Given the description of an element on the screen output the (x, y) to click on. 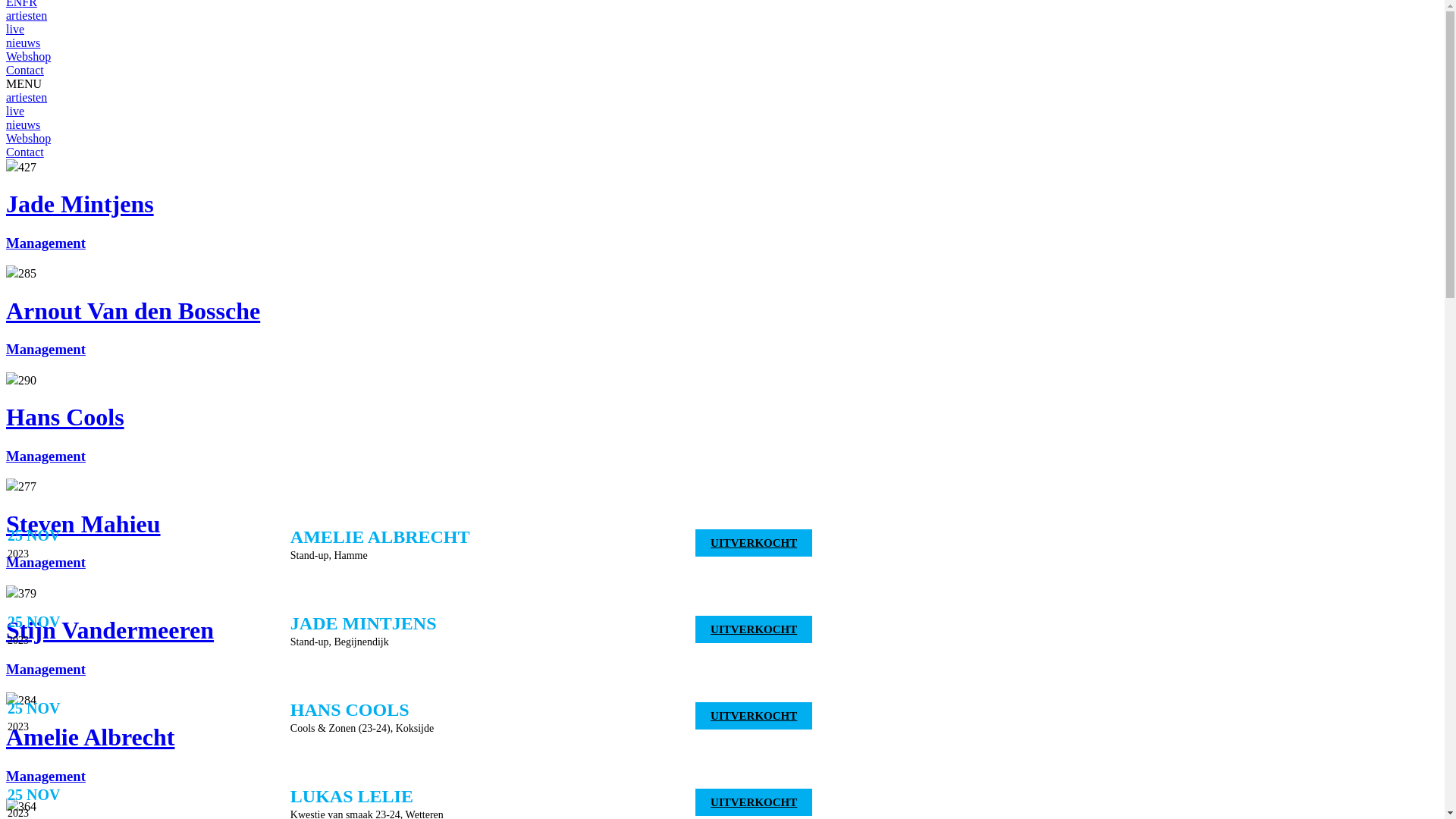
nieuws Element type: text (23, 124)
nieuws Element type: text (23, 42)
UITVERKOCHT Element type: text (753, 801)
live Element type: text (15, 28)
Hans Cools
Management Element type: text (722, 433)
Webshop Element type: text (28, 56)
Amelie Albrecht
Management Element type: text (722, 753)
artiesten Element type: text (26, 15)
Arnout Van den Bossche
Management Element type: text (722, 327)
UITVERKOCHT Element type: text (753, 715)
UITVERKOCHT Element type: text (753, 542)
Jade Mintjens
Management Element type: text (722, 220)
Steven Mahieu
Management Element type: text (722, 540)
Contact Element type: text (24, 151)
artiesten Element type: text (26, 97)
Stijn Vandermeeren
Management Element type: text (722, 646)
live Element type: text (15, 110)
Webshop Element type: text (28, 137)
UITVERKOCHT Element type: text (753, 629)
Contact Element type: text (24, 69)
